Given the description of an element on the screen output the (x, y) to click on. 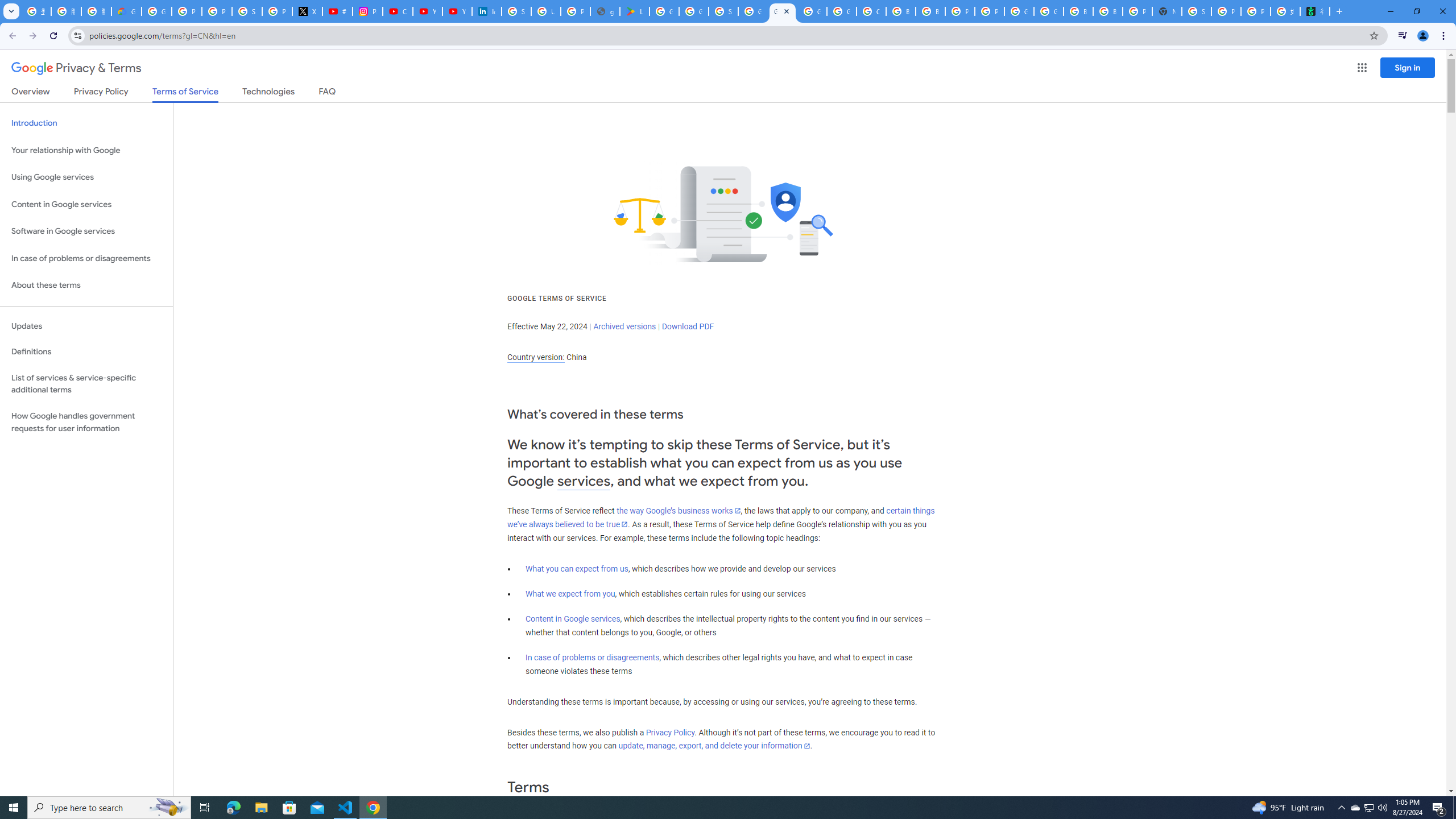
What you can expect from us (576, 568)
How Google handles government requests for user information (86, 422)
Definitions (86, 352)
Sign in - Google Accounts (247, 11)
In case of problems or disagreements (592, 657)
